Given the description of an element on the screen output the (x, y) to click on. 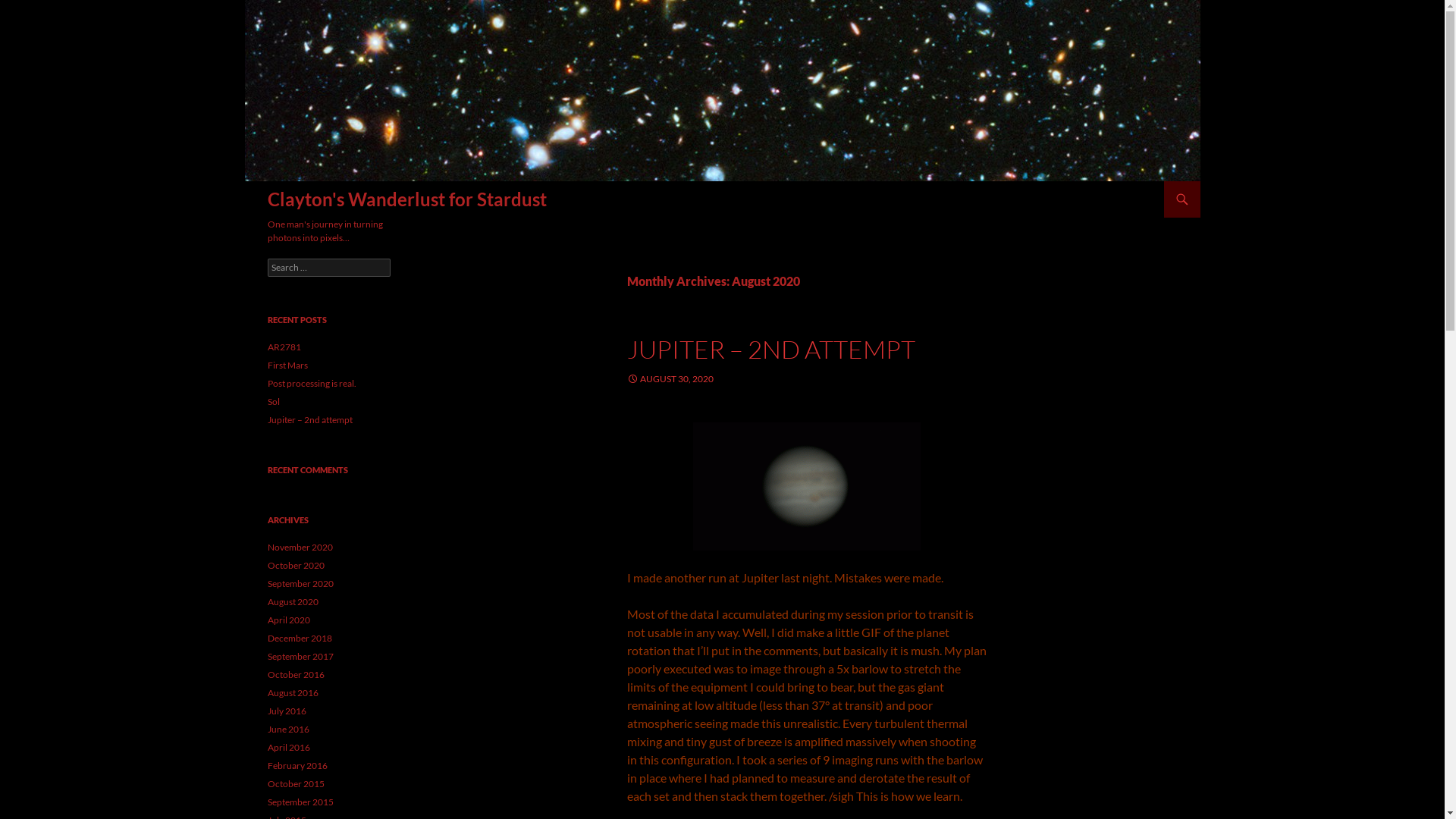
SKIP TO CONTENT Element type: text (1172, 181)
November 2020 Element type: text (299, 546)
September 2015 Element type: text (299, 801)
First Mars Element type: text (286, 364)
Sol Element type: text (272, 401)
Search for: Element type: hover (327, 267)
October 2015 Element type: text (294, 783)
AR2781 Element type: text (283, 346)
April 2016 Element type: text (287, 747)
February 2016 Element type: text (296, 765)
July 2016 Element type: text (285, 710)
August 2020 Element type: text (291, 601)
Search Element type: text (248, 181)
September 2017 Element type: text (299, 656)
December 2018 Element type: text (298, 637)
October 2016 Element type: text (294, 674)
April 2020 Element type: text (287, 619)
Post processing is real. Element type: text (310, 383)
June 2016 Element type: text (287, 728)
Clayton's Wanderlust for Stardust Element type: text (406, 199)
Search Element type: text (29, 9)
August 2016 Element type: text (291, 692)
AUGUST 30, 2020 Element type: text (669, 378)
September 2020 Element type: text (299, 583)
October 2020 Element type: text (294, 565)
